Given the description of an element on the screen output the (x, y) to click on. 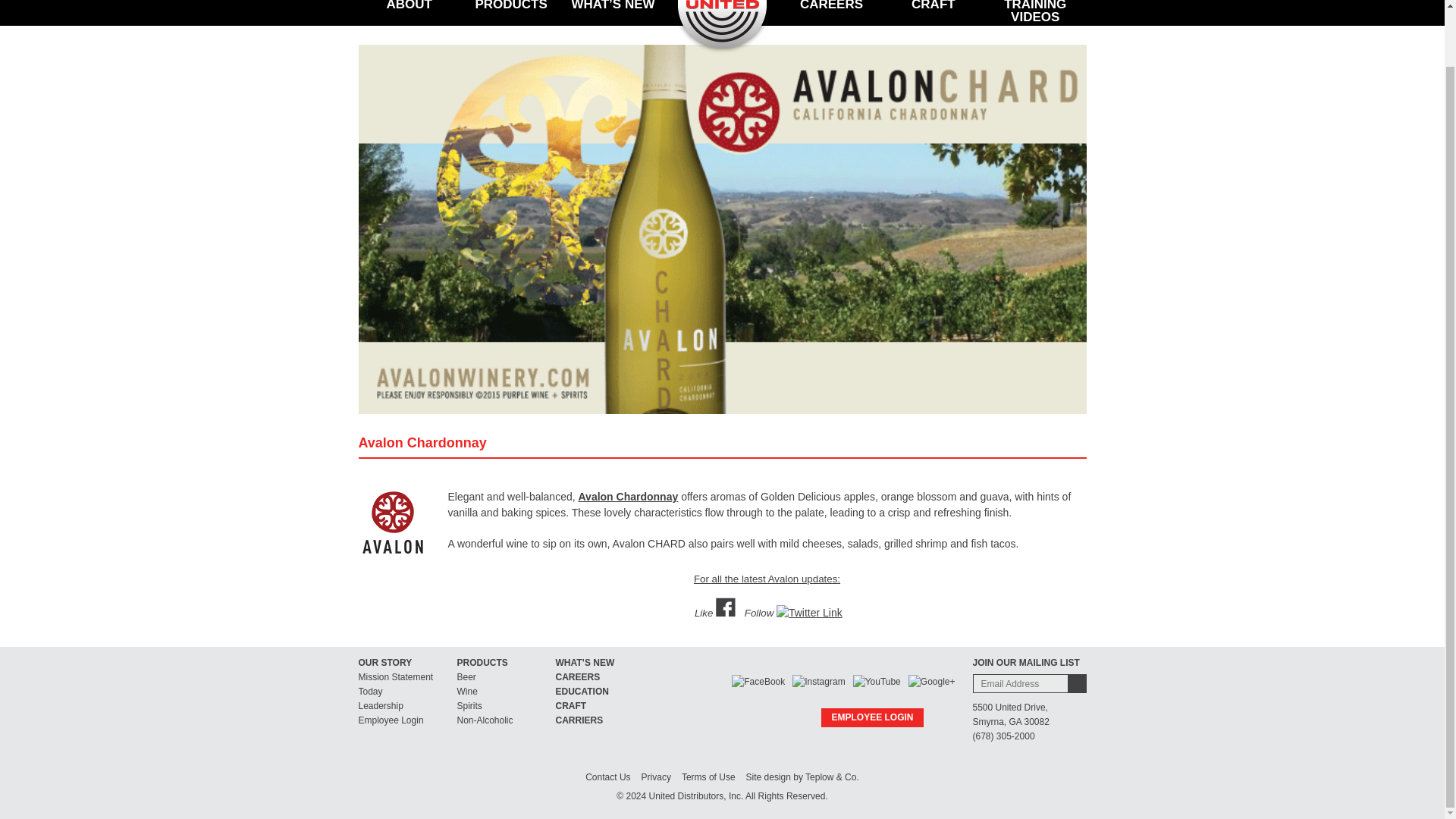
Beer (466, 676)
Today (369, 691)
CAREERS (831, 12)
ABOUT (409, 12)
Privacy (656, 777)
CRAFT (570, 706)
OUR STORY (385, 662)
CAREERS (576, 676)
TRAINING VIDEOS (1035, 18)
Spirits (469, 706)
